Given the description of an element on the screen output the (x, y) to click on. 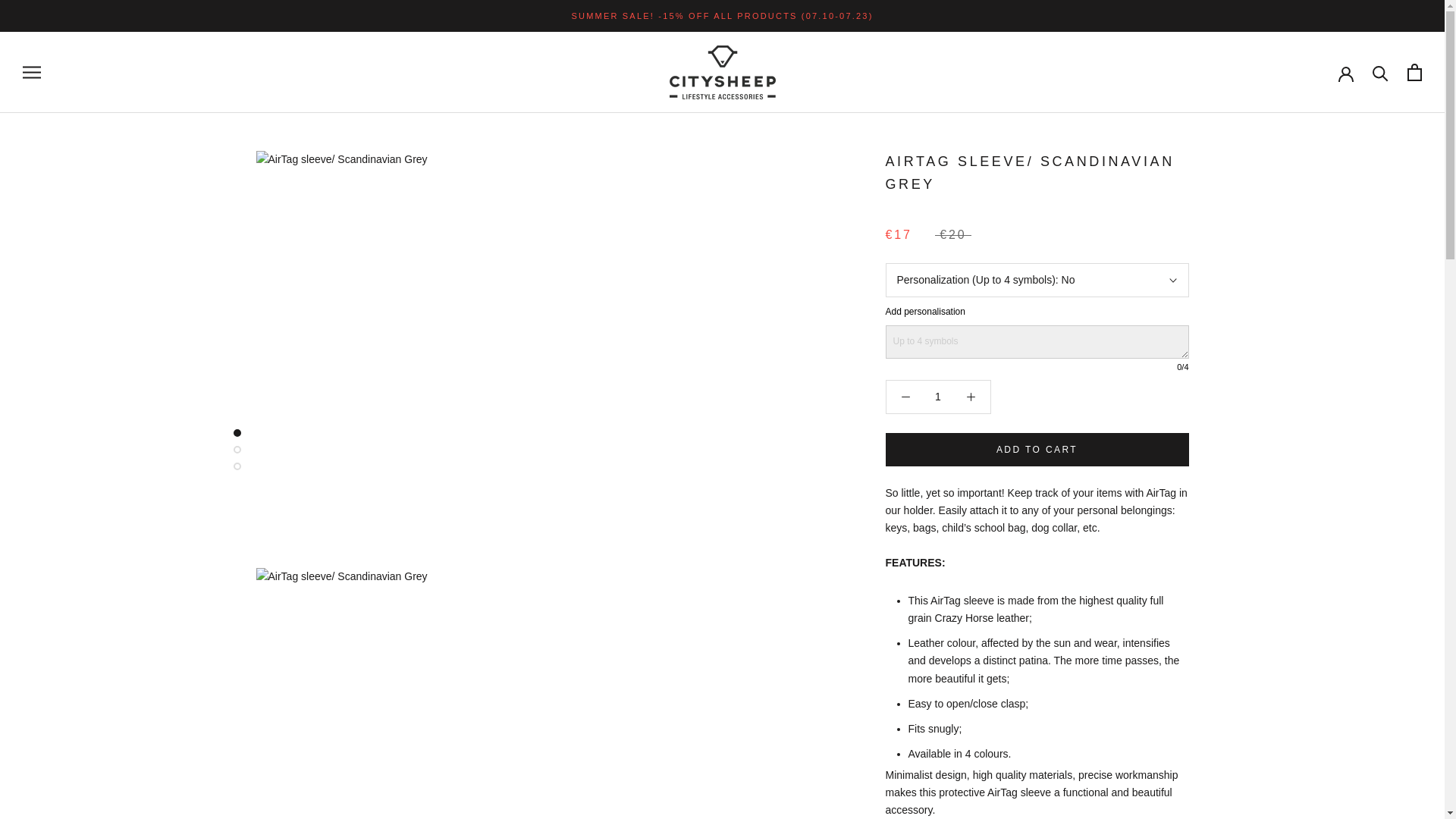
1 (938, 396)
